Given the description of an element on the screen output the (x, y) to click on. 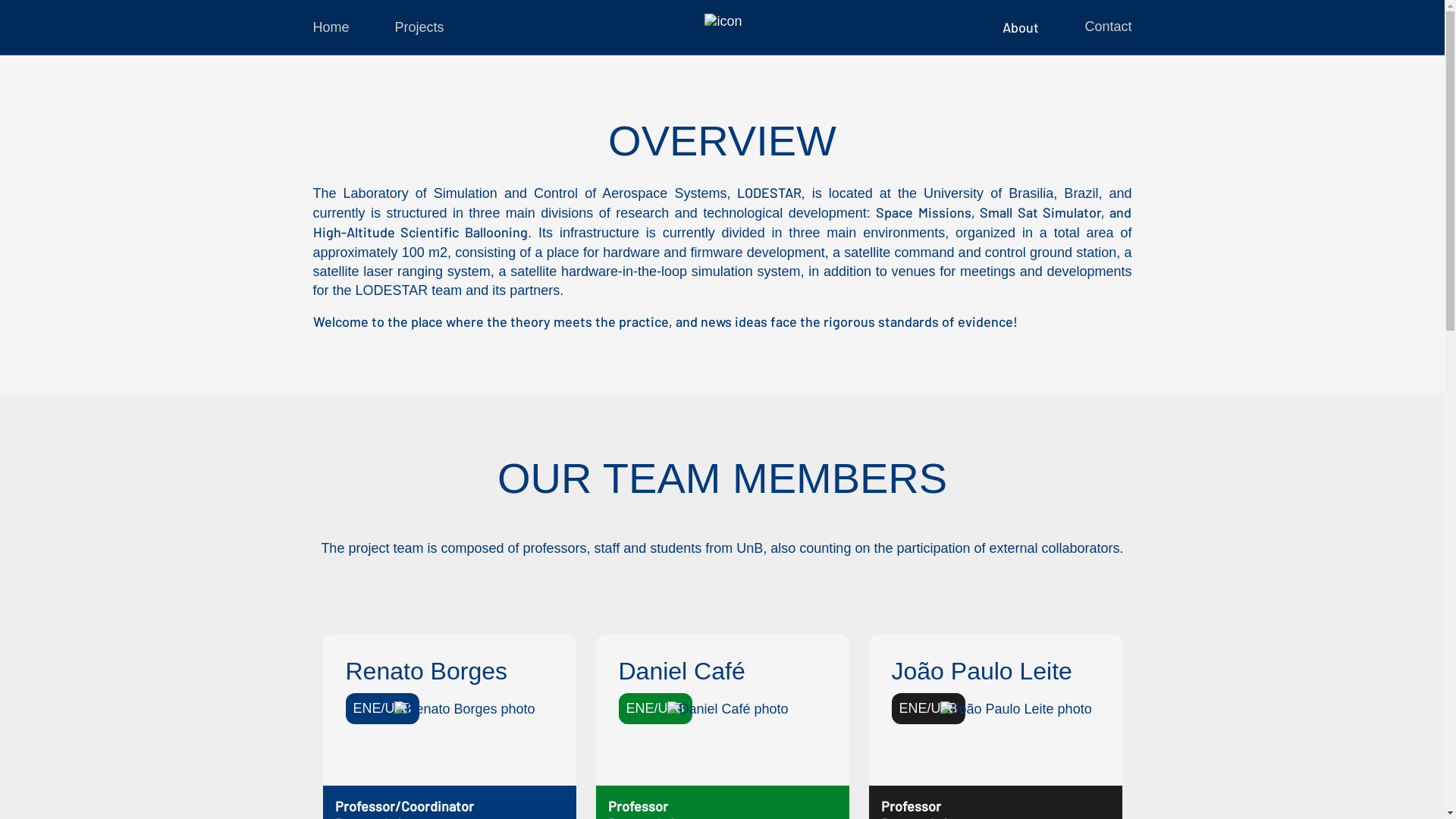
Projects Element type: text (419, 27)
Contact Element type: text (1107, 26)
About Element type: text (1020, 26)
Home Element type: text (330, 27)
